Given the description of an element on the screen output the (x, y) to click on. 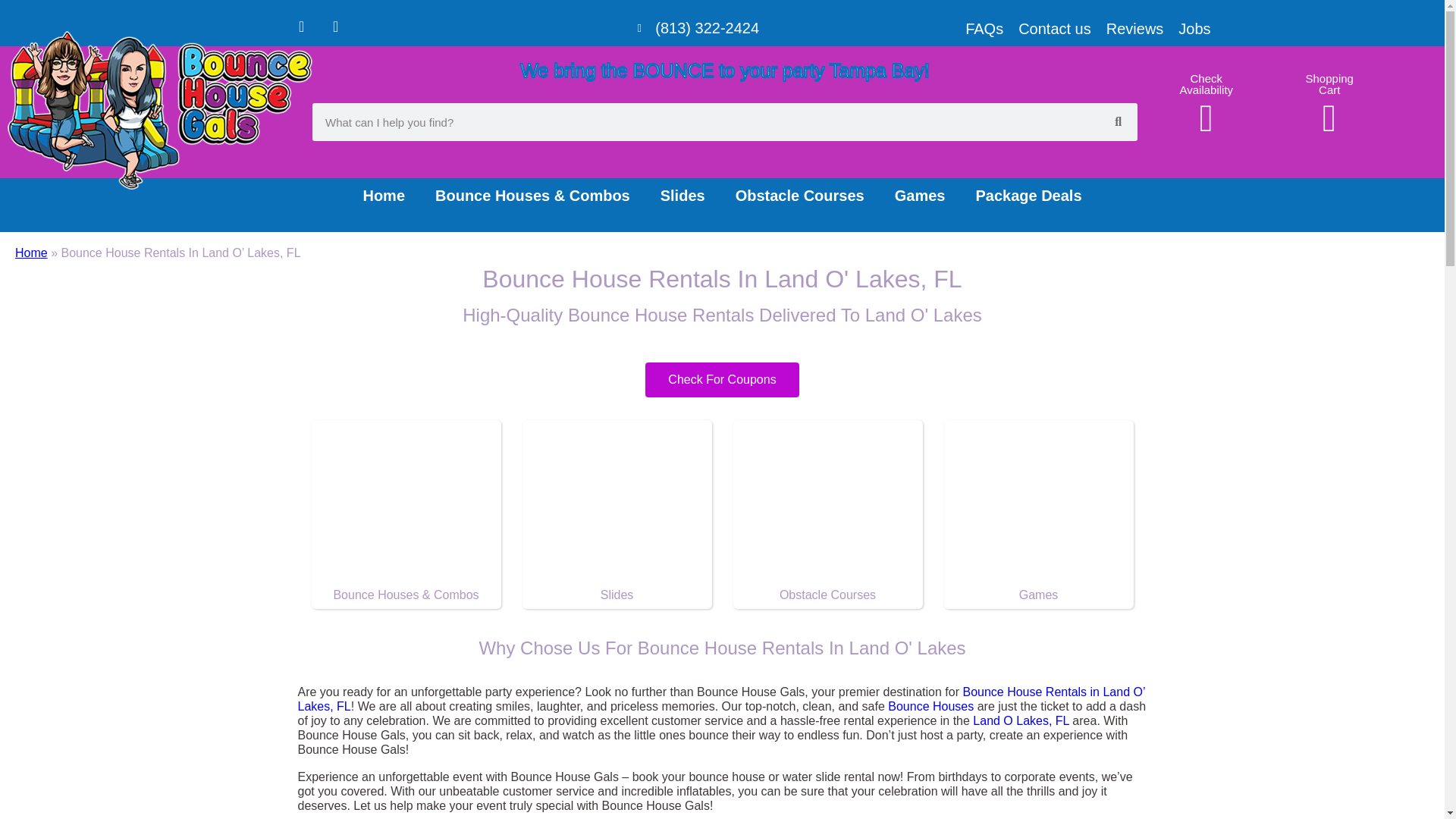
Obstacle Courses (826, 594)
Jobs (1193, 28)
Contact us (1054, 28)
Bounce Houses (931, 706)
Home (383, 195)
Slides (682, 195)
FAQs (984, 28)
Obstacle Courses (799, 195)
Slides (616, 594)
Home (31, 252)
